Given the description of an element on the screen output the (x, y) to click on. 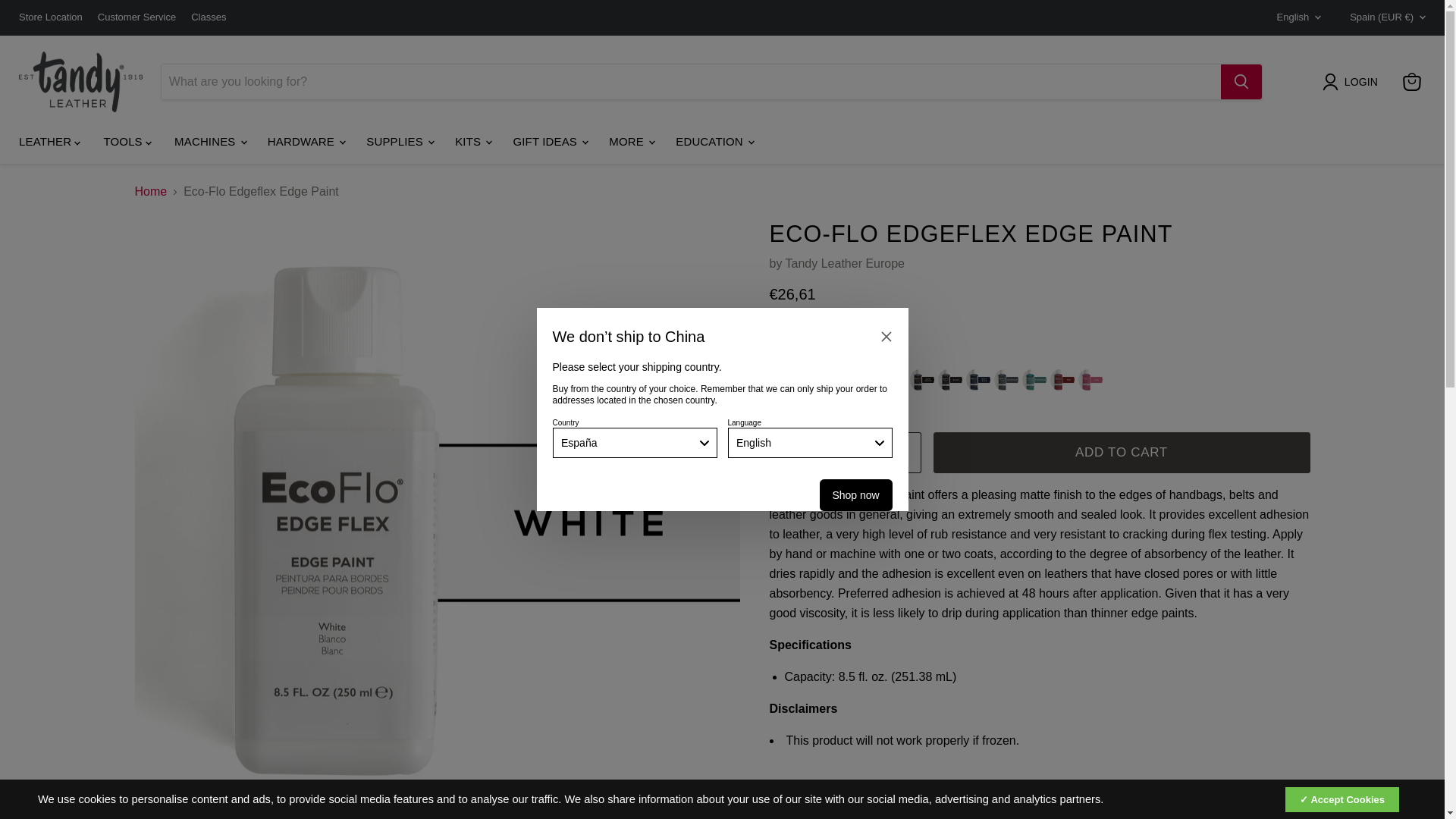
Tandy Leather Europe (845, 263)
Accept Cookies (1342, 799)
Accept Cookies (1342, 799)
English (810, 442)
Customer Service (136, 17)
English (1295, 17)
Shop now (855, 495)
Store Location (50, 17)
1 (845, 452)
Classes (207, 17)
